Given the description of an element on the screen output the (x, y) to click on. 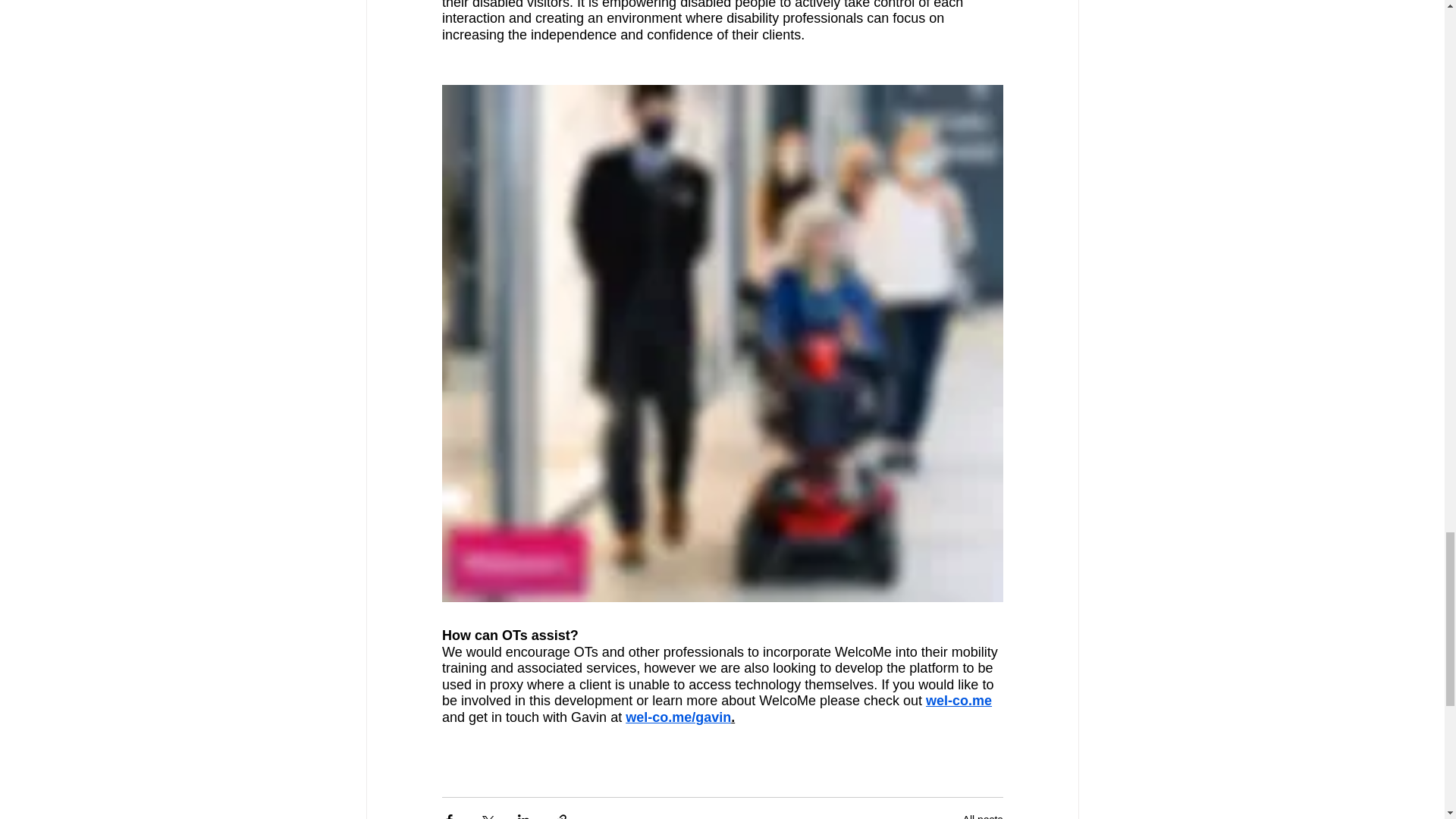
wel-co.me (958, 701)
All posts (982, 816)
